Given the description of an element on the screen output the (x, y) to click on. 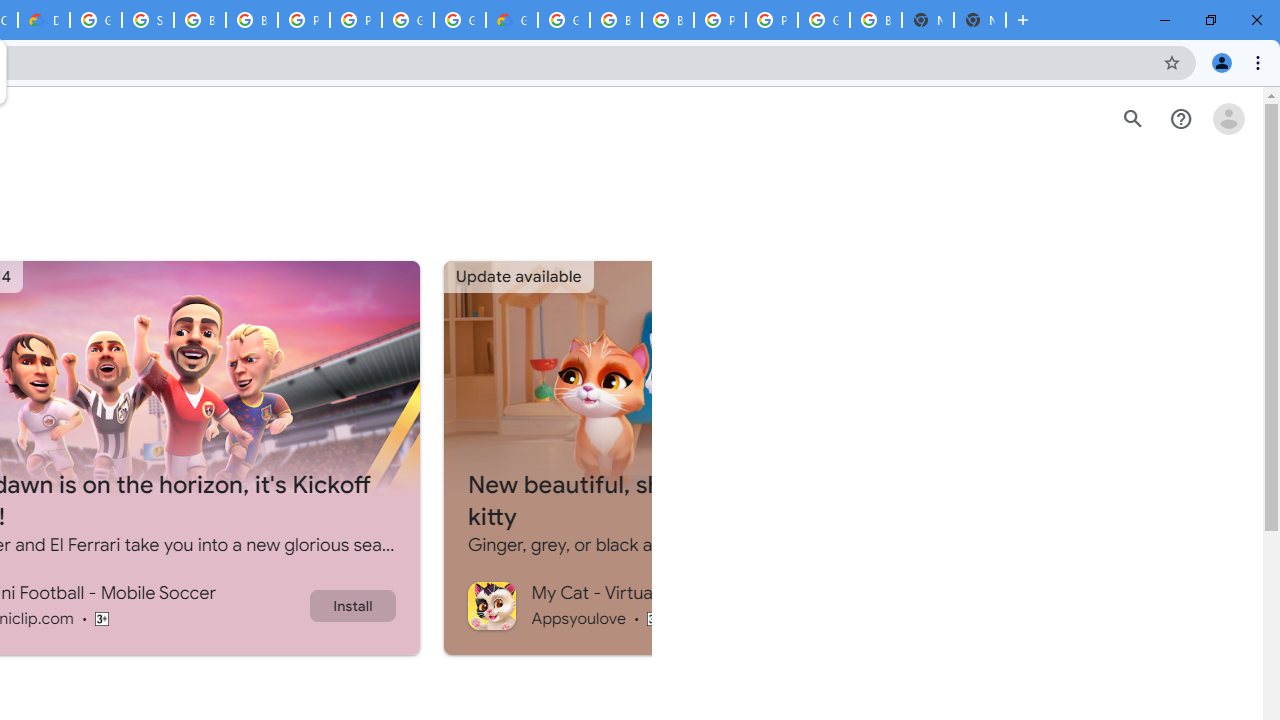
Browse Chrome as a guest - Computer - Google Chrome Help (616, 20)
Sign in - Google Accounts (147, 20)
Google Cloud Estimate Summary (511, 20)
Help Center (1180, 119)
New Tab (979, 20)
Google Cloud Platform (823, 20)
Google Cloud Platform (95, 20)
Open account menu (1228, 119)
